Given the description of an element on the screen output the (x, y) to click on. 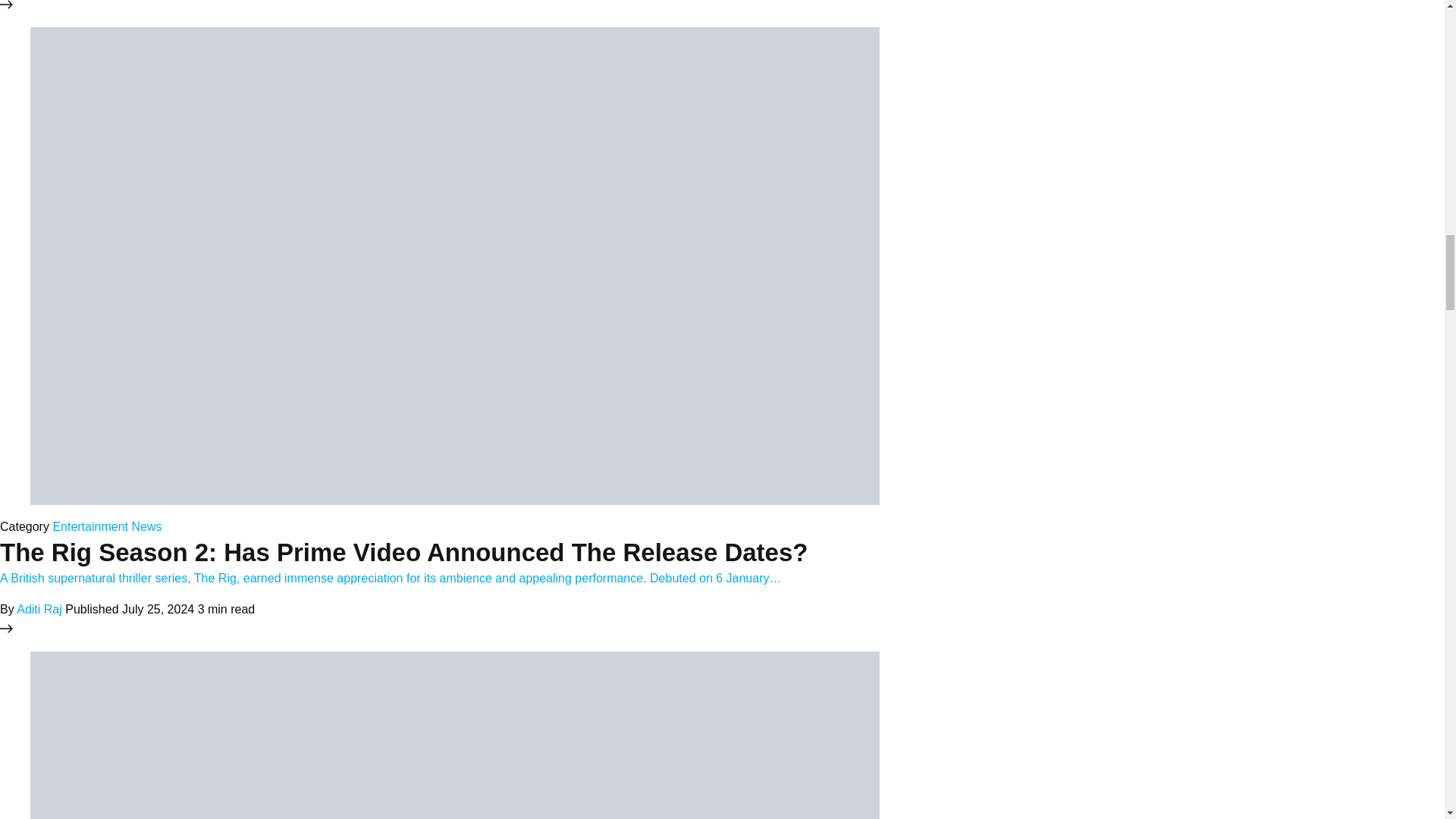
News (146, 526)
Entertainment (90, 526)
Aditi Raj (39, 608)
